Given the description of an element on the screen output the (x, y) to click on. 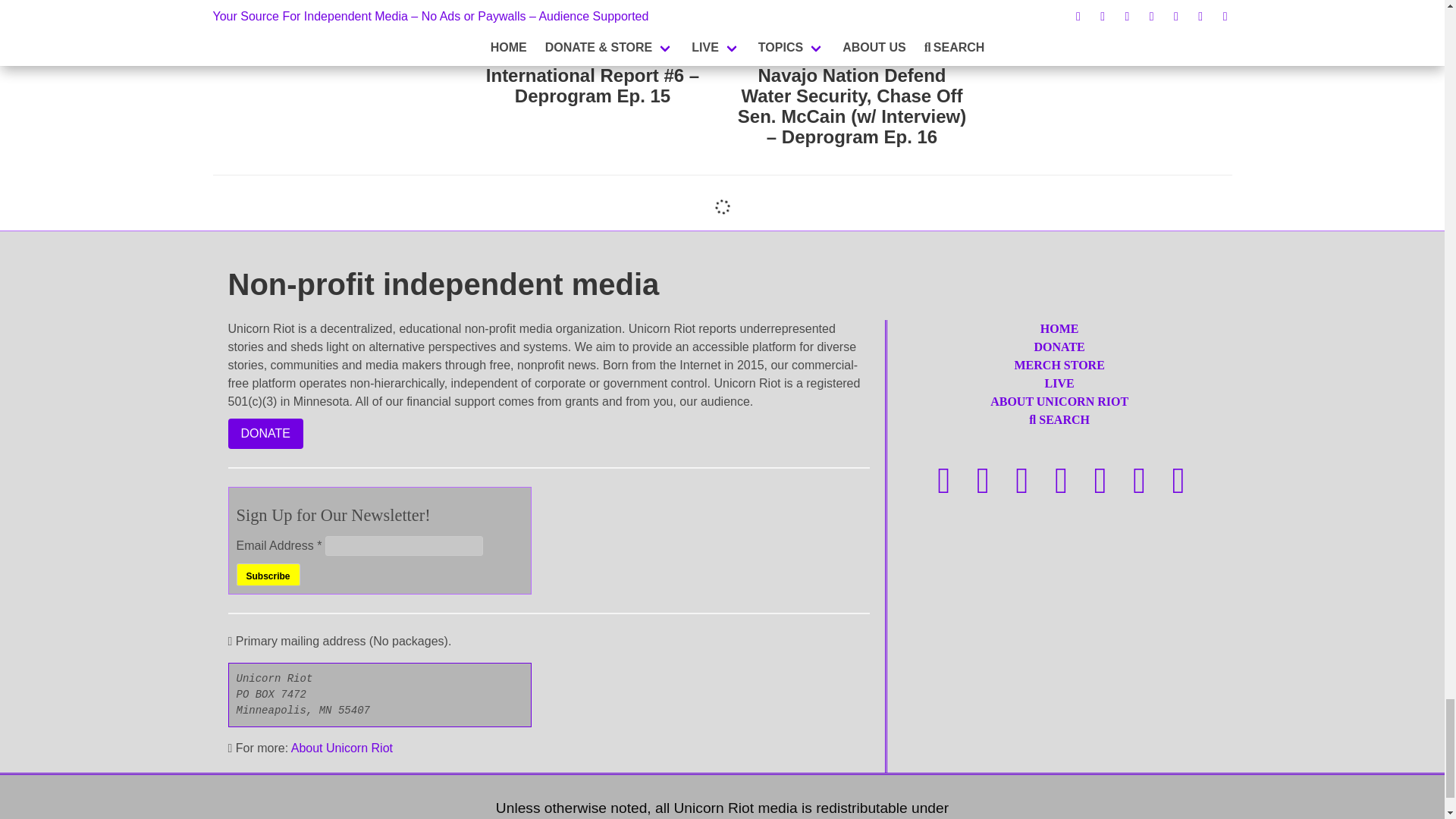
Subscribe (267, 574)
